Given the description of an element on the screen output the (x, y) to click on. 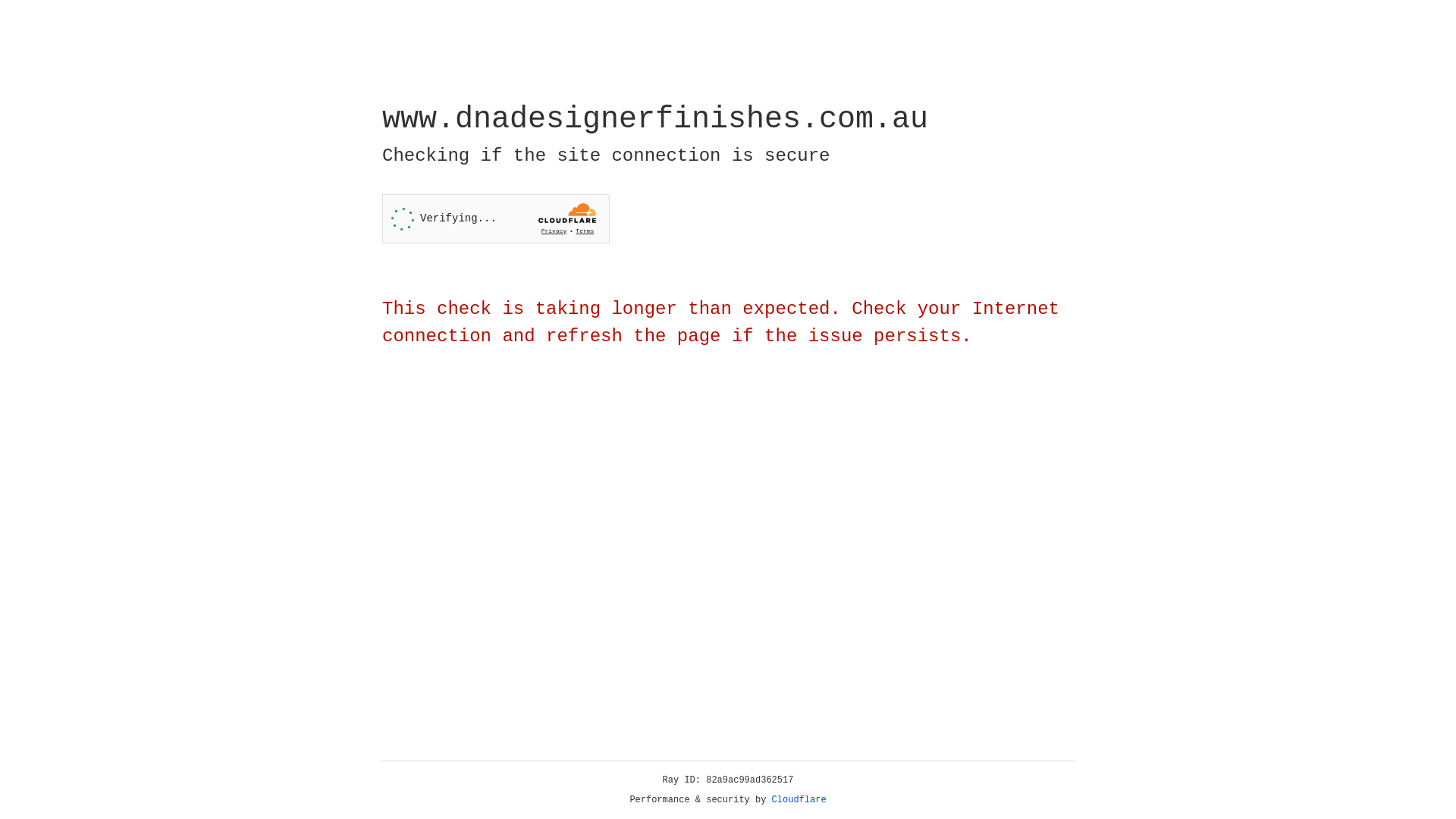
Widget containing a Cloudflare security challenge Element type: hover (495, 218)
